Given the description of an element on the screen output the (x, y) to click on. 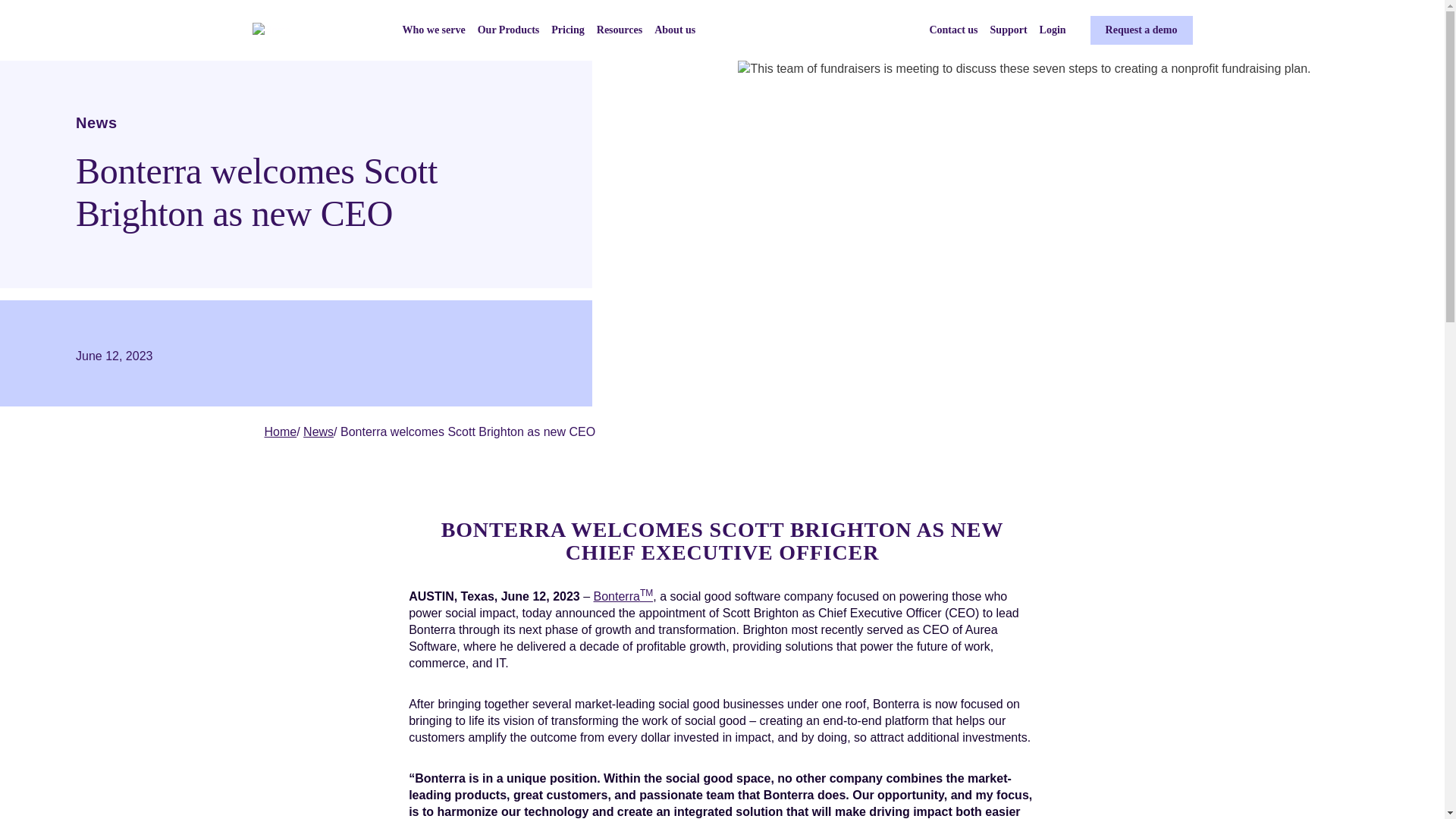
Contact us (952, 29)
Resources (619, 30)
Our Products (508, 30)
Login (1052, 29)
About us (674, 30)
Pricing (568, 30)
Request a demo (1141, 30)
Support (1008, 29)
Who we serve (432, 30)
